Given the description of an element on the screen output the (x, y) to click on. 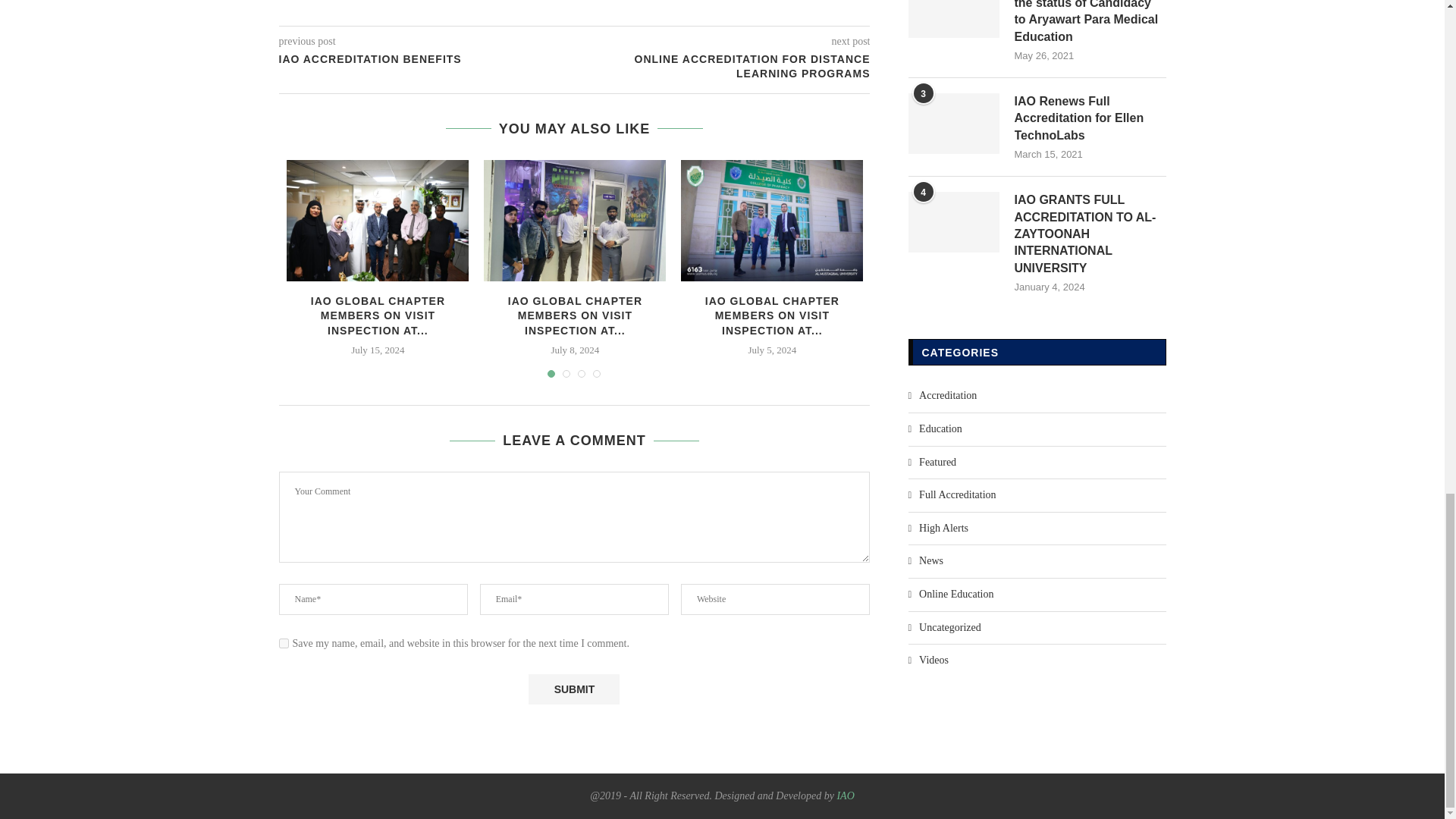
ONLINE ACCREDITATION FOR DISTANCE LEARNING PROGRAMS (722, 66)
yes (283, 643)
IAO ACCREDITATION BENEFITS (427, 58)
Submit (574, 689)
